Given the description of an element on the screen output the (x, y) to click on. 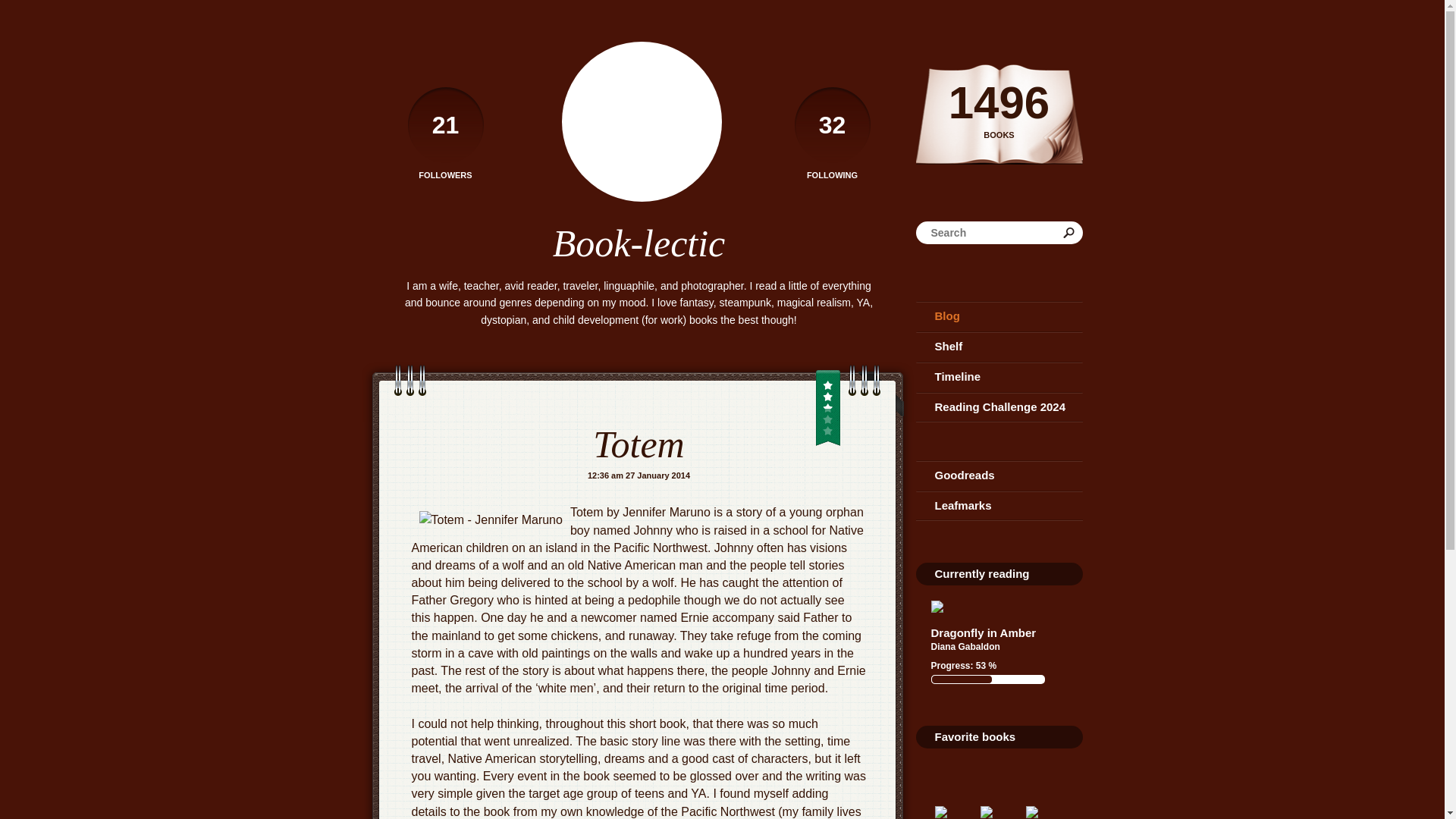
Blog (999, 316)
Shelf (999, 346)
Currently reading (981, 573)
12:36 am 27 January 2014 (639, 474)
Favorite books (974, 736)
Goodreads (999, 475)
Totem (638, 444)
BOOKS (999, 135)
Book-lectic (639, 242)
Leafmarks (999, 505)
